Given the description of an element on the screen output the (x, y) to click on. 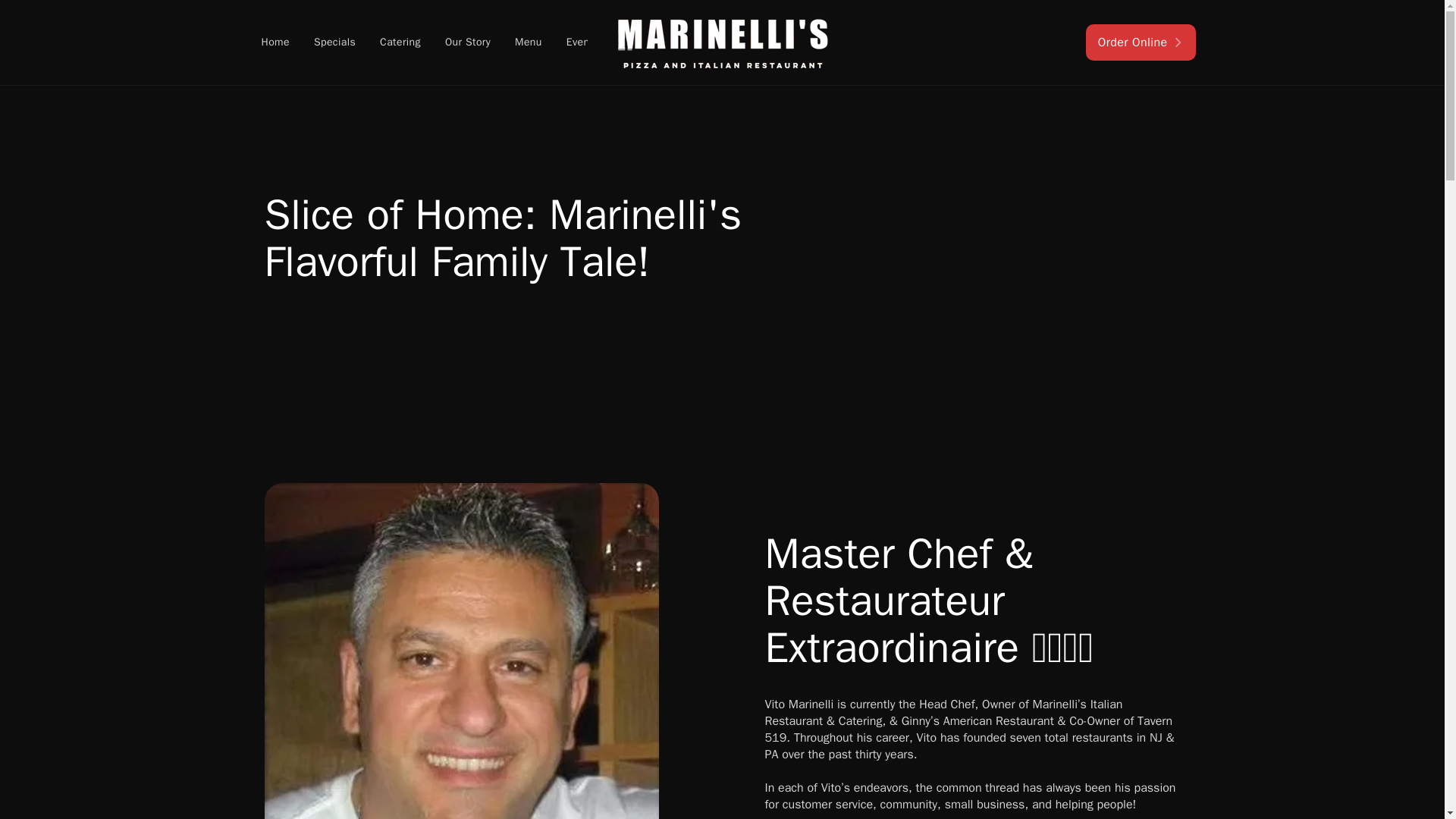
Catering (400, 42)
Menu (528, 42)
Our Story (467, 42)
Specials (334, 42)
Events (582, 42)
Order Online (1140, 42)
Home (274, 42)
